Given the description of an element on the screen output the (x, y) to click on. 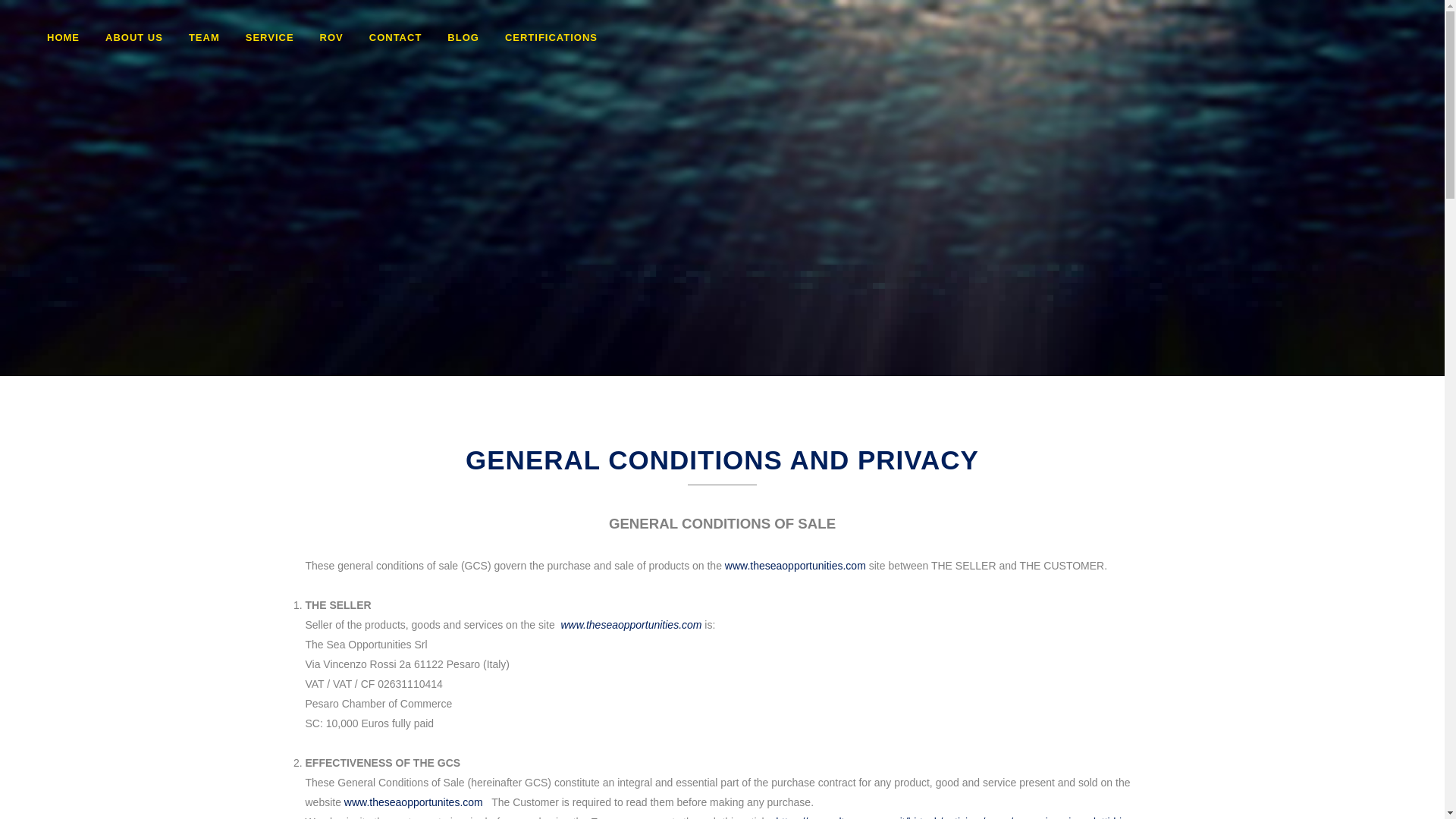
CERTIFICATIONS (551, 38)
www.theseaopportunities.com (630, 624)
SERVICE (269, 38)
CONTACT (395, 38)
www.theseaopportunities.com (795, 565)
www.theseaopportunites.com (413, 802)
ABOUT US (134, 38)
